Given the description of an element on the screen output the (x, y) to click on. 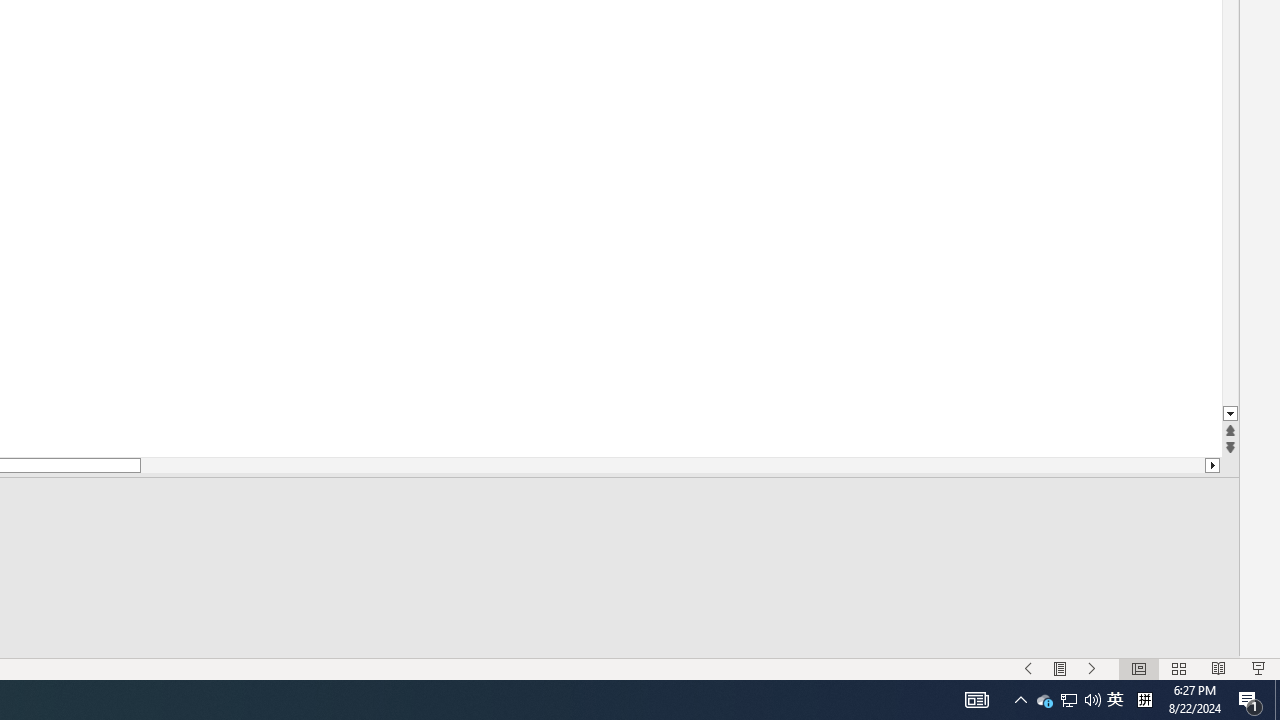
Slide Show Next On (1092, 668)
Slide Show Previous On (1044, 699)
Menu On (1028, 668)
Action Center, 1 new notification (1060, 668)
